Given the description of an element on the screen output the (x, y) to click on. 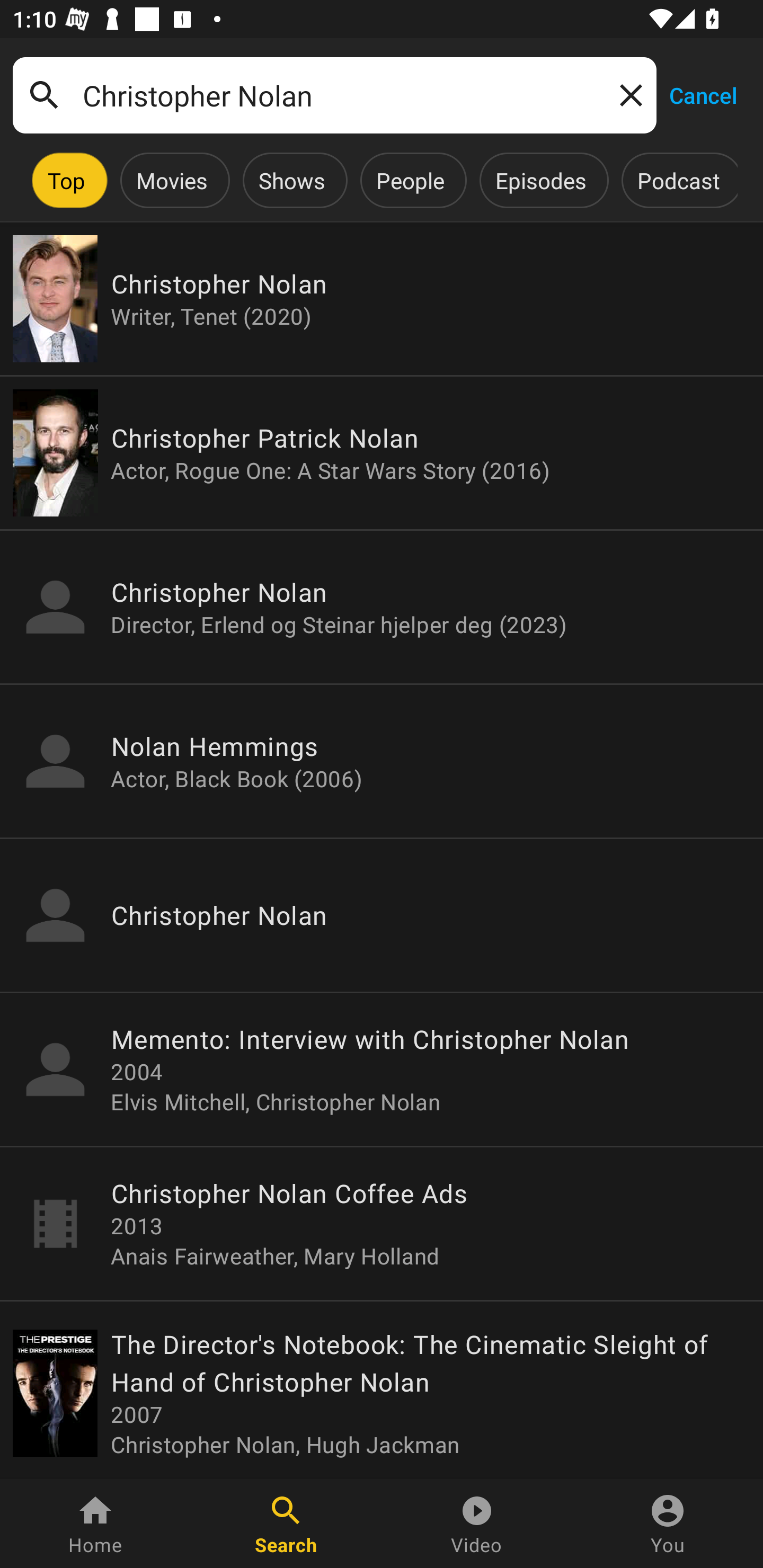
Clear query (627, 94)
Cancel (703, 94)
Christopher Nolan (334, 95)
Top (66, 180)
Movies (171, 180)
Shows (291, 180)
People (410, 180)
Episodes (540, 180)
Podcast (678, 180)
Christopher Nolan Writer, Tenet (2020) (381, 298)
Nolan Hemmings Actor, Black Book (2006) (381, 761)
Christopher Nolan (381, 914)
Home (95, 1523)
Video (476, 1523)
You (667, 1523)
